Given the description of an element on the screen output the (x, y) to click on. 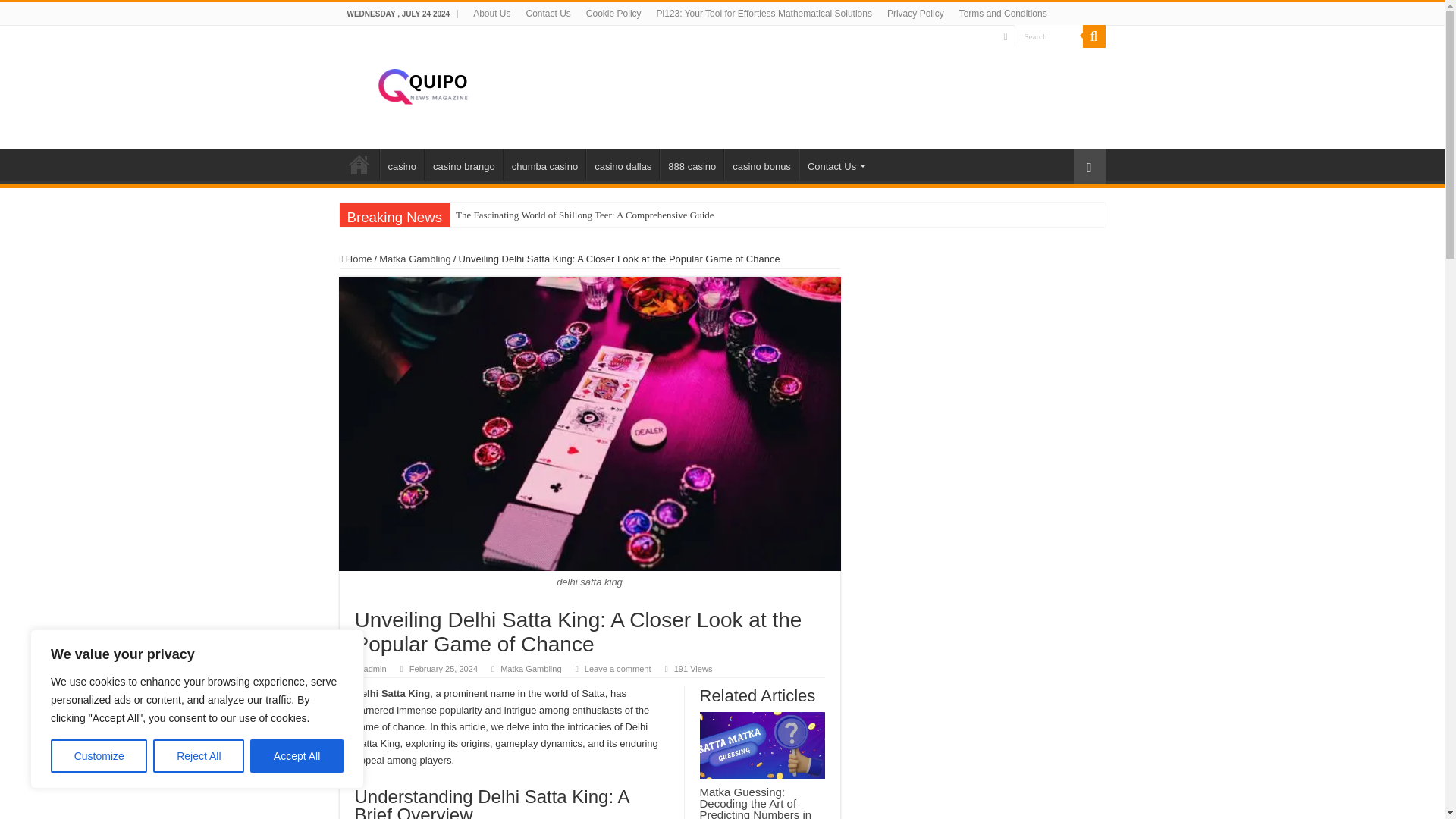
casino (400, 164)
Customize (98, 756)
CasinoQuipo (422, 84)
Reject All (198, 756)
casino brango (463, 164)
Accept All (296, 756)
Search (1048, 35)
Cookie Policy (613, 13)
Search (1048, 35)
Pi123: Your Tool for Effortless Mathematical Solutions (764, 13)
Home (358, 164)
chumba casino (544, 164)
Search (1094, 36)
Terms and Conditions (1003, 13)
